Given the description of an element on the screen output the (x, y) to click on. 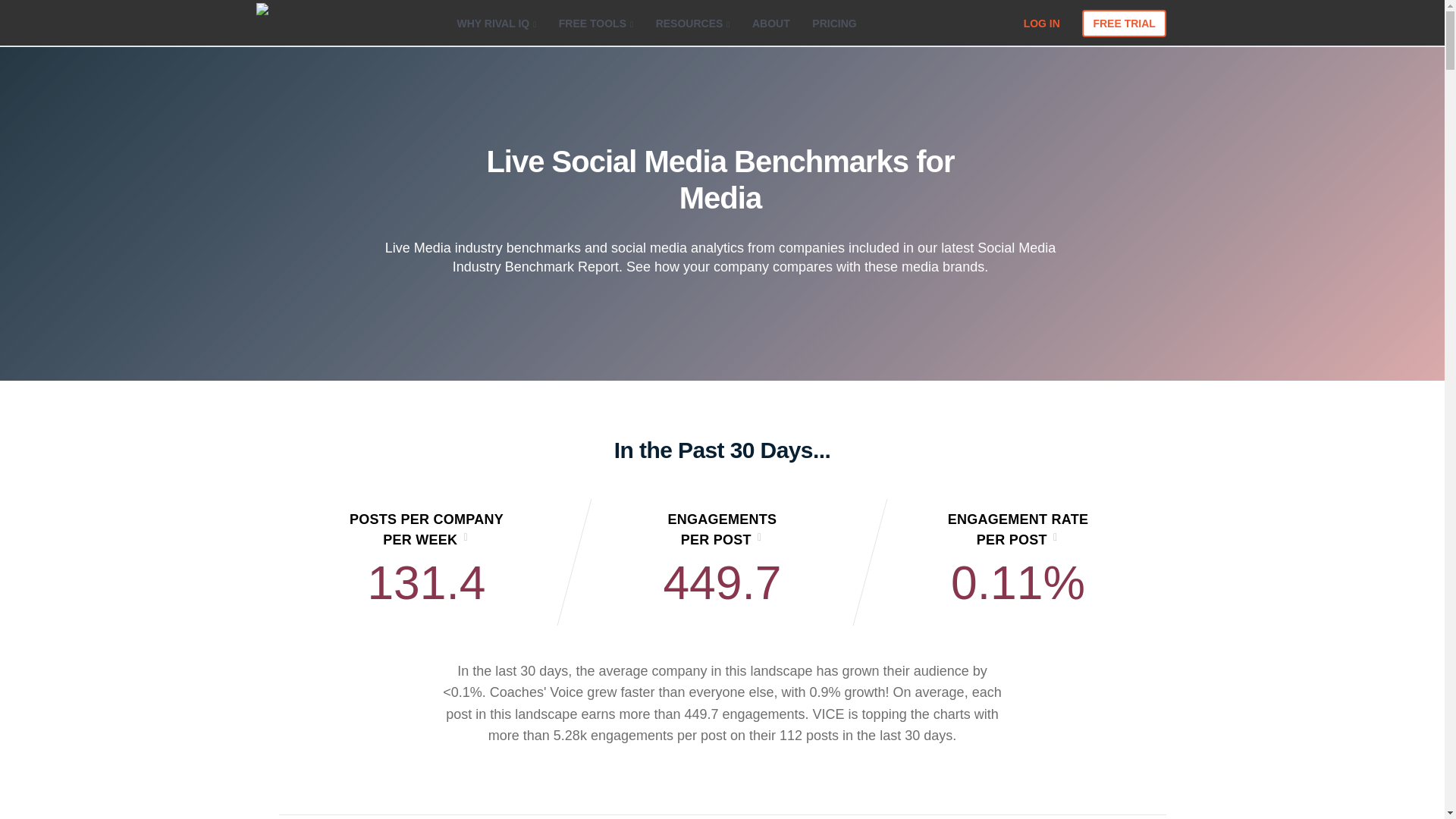
WHY RIVAL IQ (496, 17)
FREE TOOLS (596, 17)
RESOURCES (693, 17)
